Given the description of an element on the screen output the (x, y) to click on. 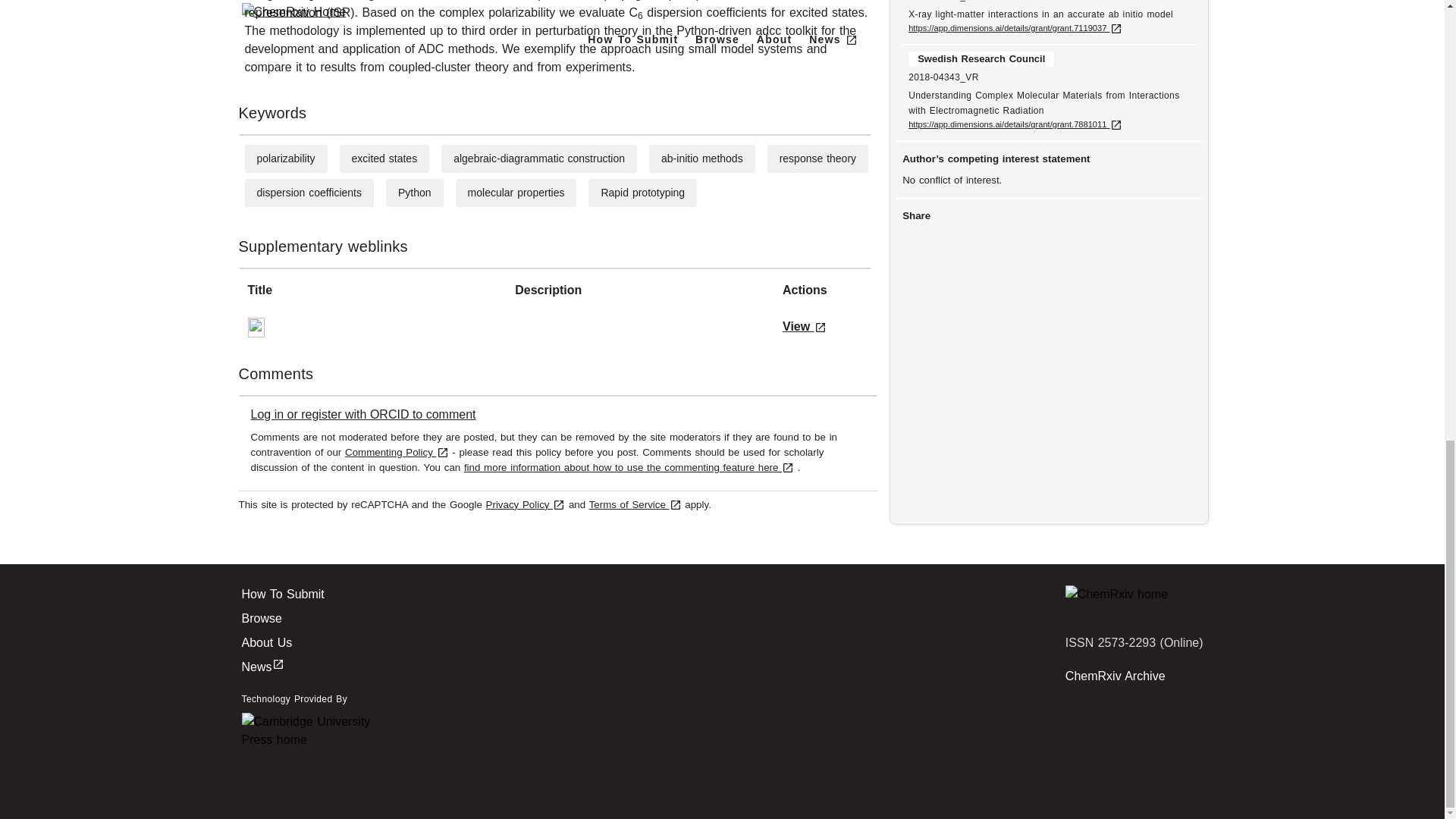
Python (413, 192)
Rapid prototyping (641, 192)
molecular properties (515, 192)
View (805, 326)
ab-initio methods (701, 158)
algebraic-diagrammatic construction (538, 158)
dispersion coefficients (308, 192)
polarizability (285, 158)
excited states (384, 158)
response theory (817, 158)
